Given the description of an element on the screen output the (x, y) to click on. 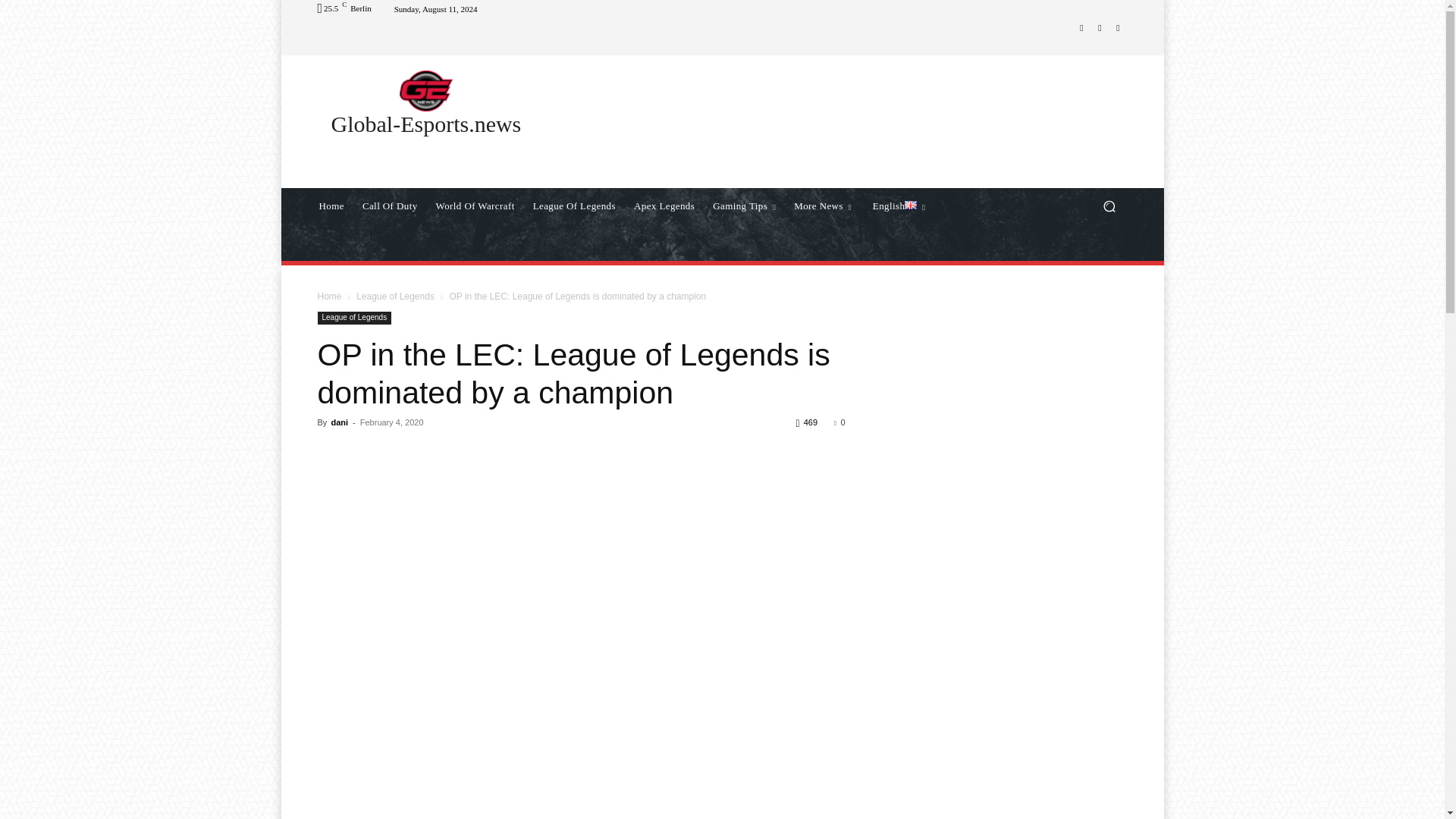
View all posts in League of Legends (394, 296)
Twitter (1117, 27)
Facebook (1080, 27)
Instagram (1099, 27)
